Given the description of an element on the screen output the (x, y) to click on. 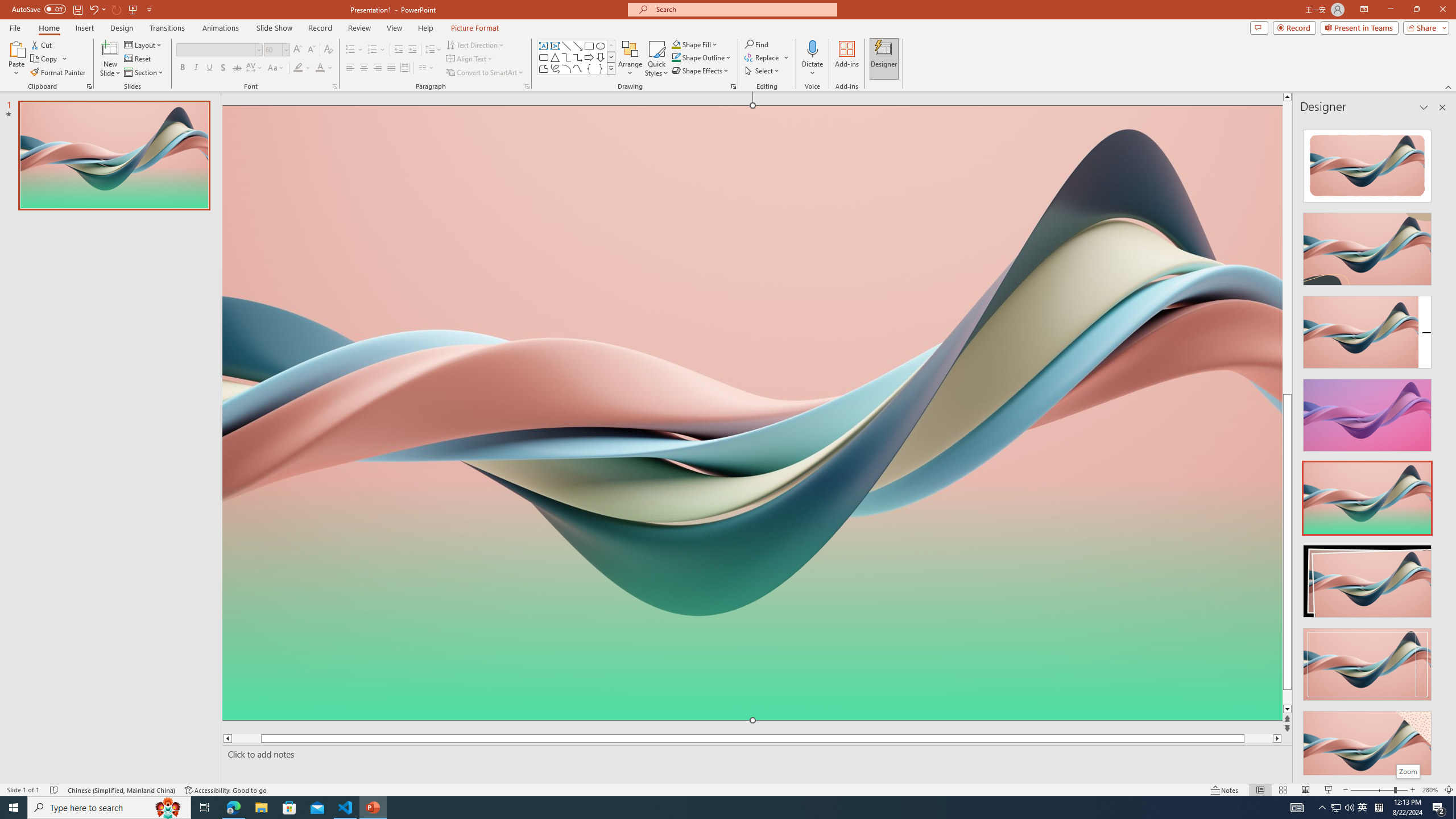
Picture Format (475, 28)
